Given the description of an element on the screen output the (x, y) to click on. 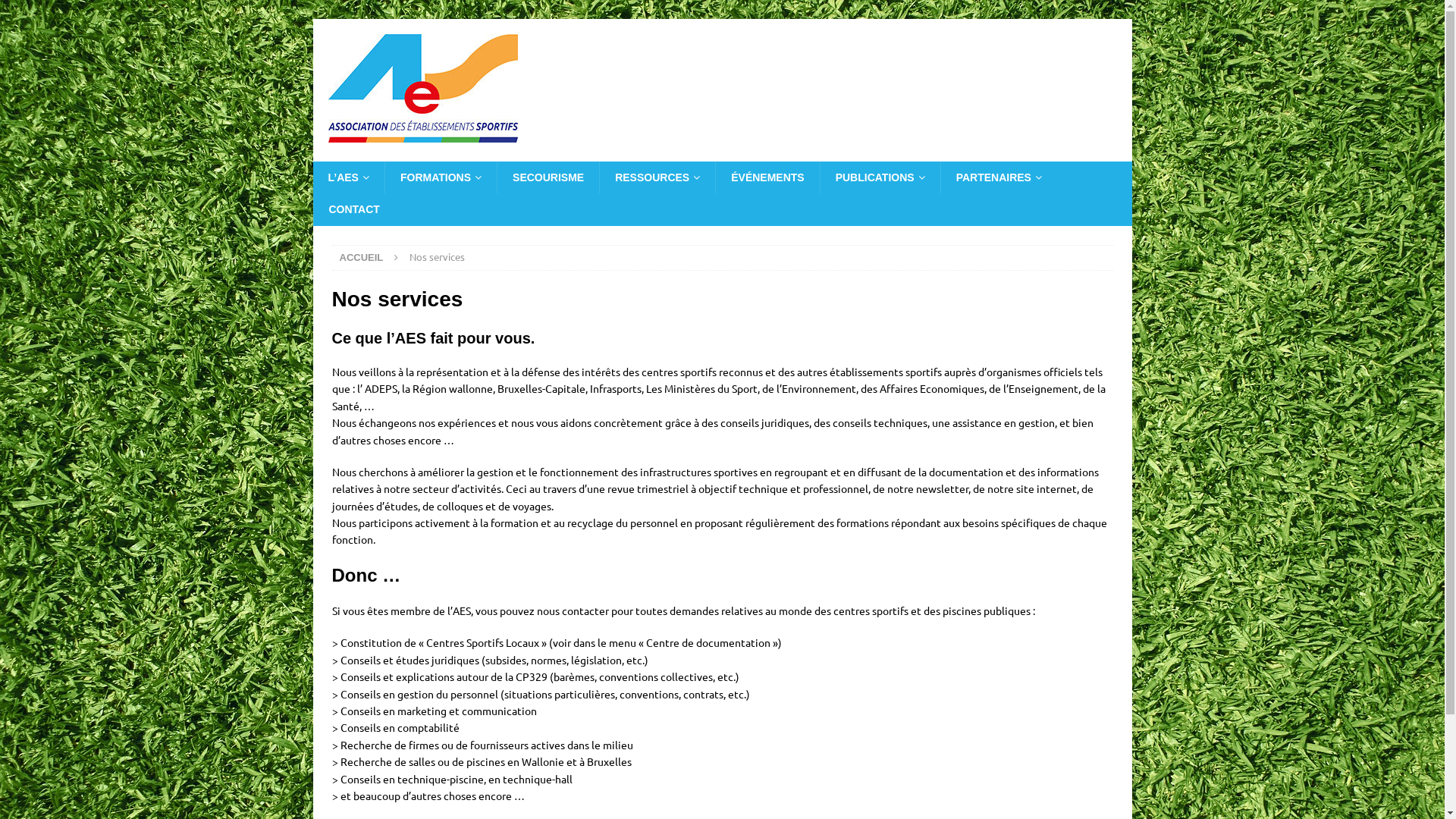
FORMATIONS Element type: text (440, 177)
RESSOURCES Element type: text (657, 177)
ACCUEIL Element type: text (361, 257)
PARTENAIRES Element type: text (998, 177)
PUBLICATIONS Element type: text (879, 177)
CONTACT Element type: text (353, 209)
SECOURISME Element type: text (547, 177)
